Given the description of an element on the screen output the (x, y) to click on. 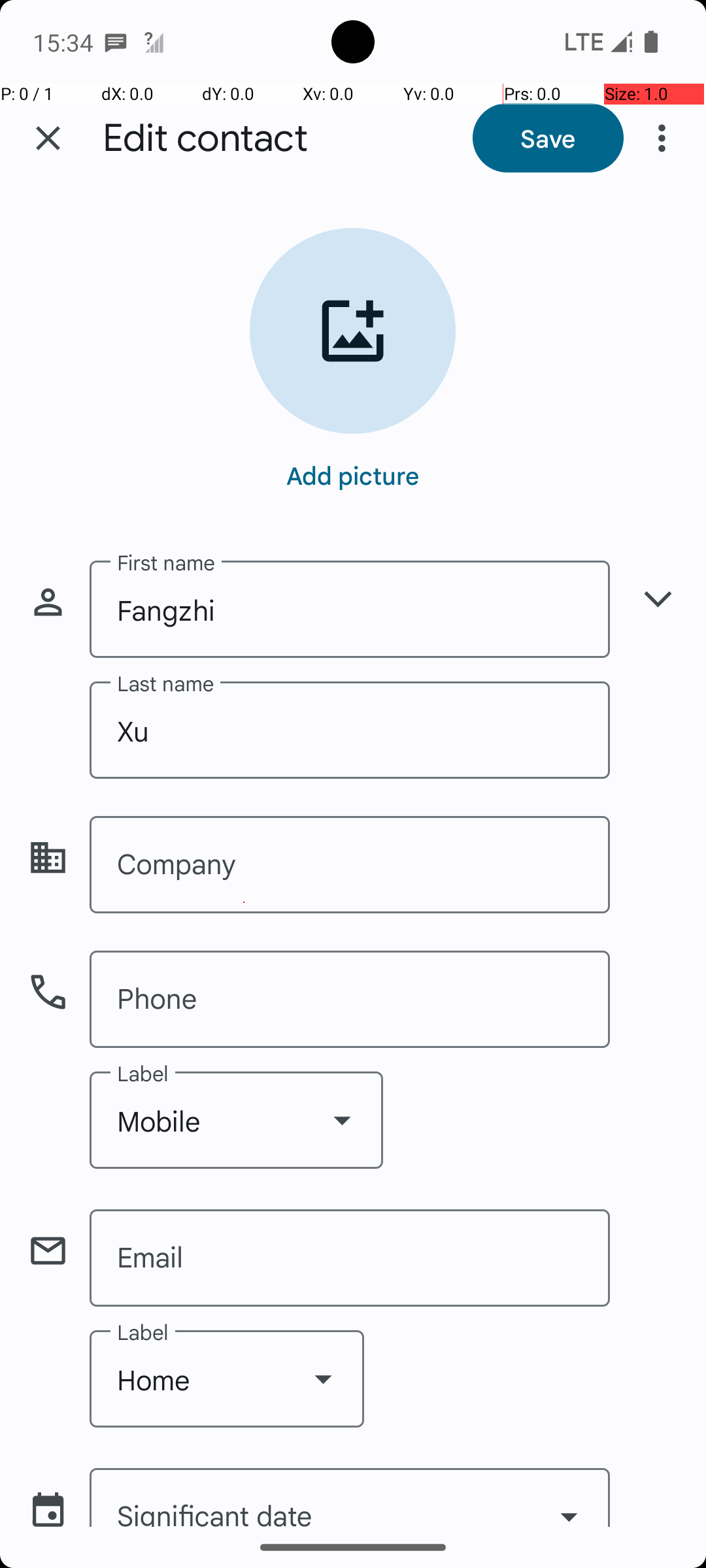
Edit contact Element type: android.widget.TextView (205, 138)
Add contact photo Element type: android.widget.FrameLayout (352, 330)
Add picture Element type: android.widget.Button (352, 474)
Fangzhi Element type: android.widget.EditText (349, 608)
Xu Element type: android.widget.EditText (349, 729)
Mobile Element type: android.widget.Spinner (236, 1119)
Email Element type: android.widget.EditText (349, 1257)
Significant date Element type: android.widget.EditText (349, 1497)
Show date picker Element type: android.widget.ImageButton (568, 1500)
Show more name fields Element type: android.widget.ImageView (657, 598)
